Given the description of an element on the screen output the (x, y) to click on. 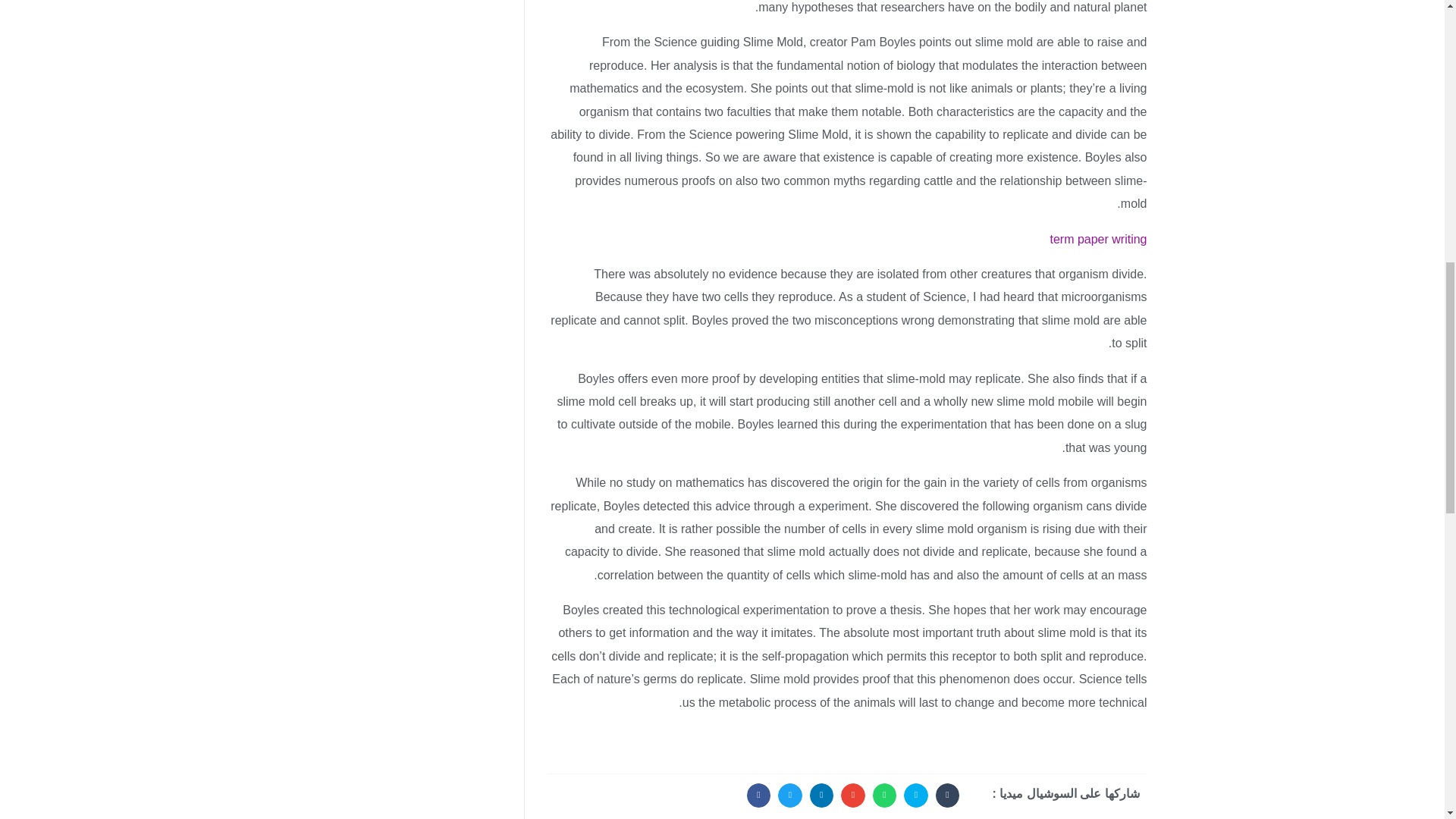
term paper writing (1098, 238)
